Given the description of an element on the screen output the (x, y) to click on. 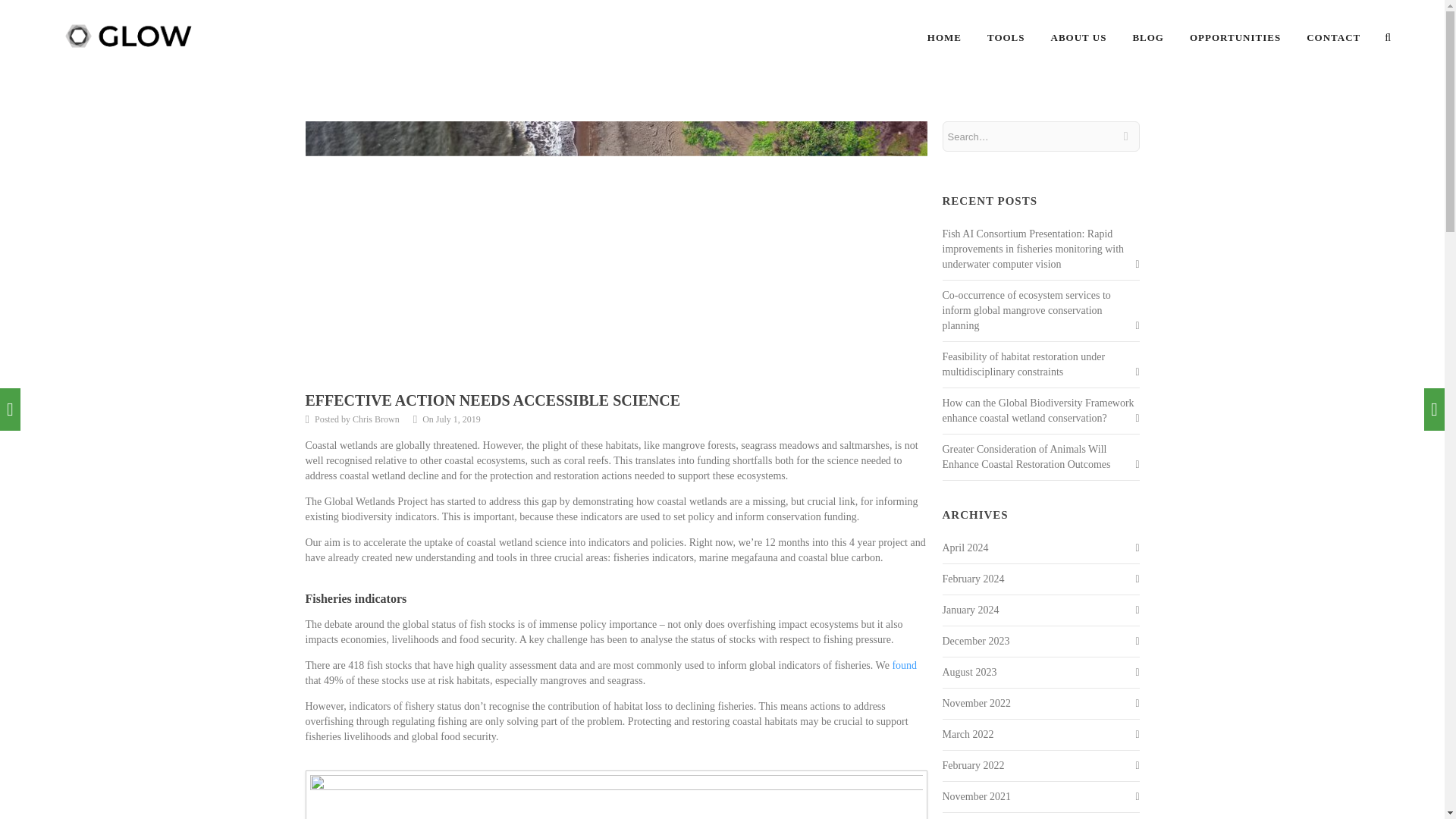
March 2022 (967, 734)
BLOG (1147, 37)
February 2024 (973, 578)
ABOUT US (1079, 37)
found (904, 665)
HOME (944, 37)
April 2024 (965, 547)
TOOLS (1005, 37)
February 2022 (973, 765)
November 2021 (976, 796)
OPPORTUNITIES (1235, 37)
